Given the description of an element on the screen output the (x, y) to click on. 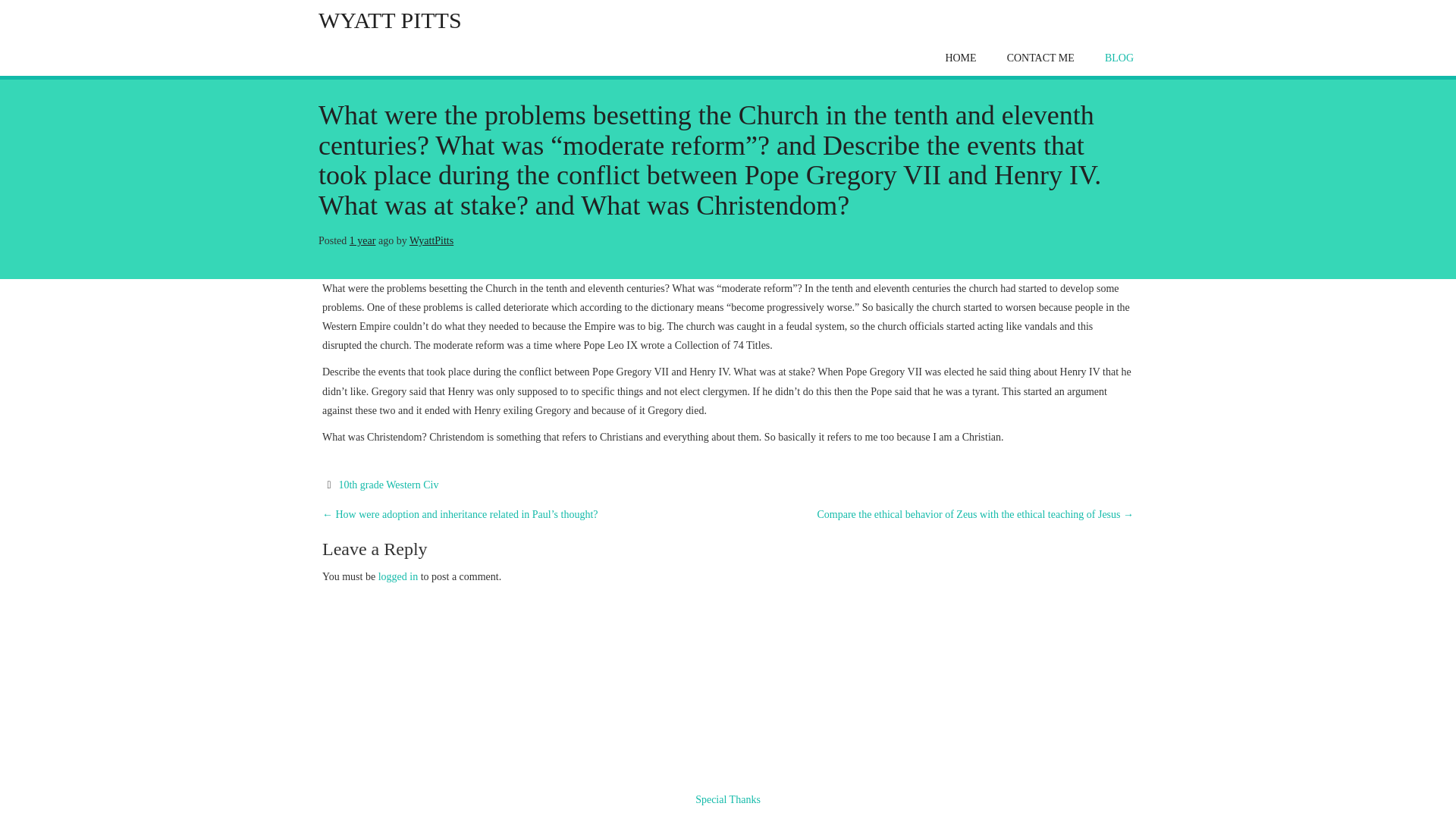
WYATT PITTS (389, 19)
10th grade Western Civ (387, 484)
Special Thanks (727, 799)
CONTACT ME (1040, 58)
1 year (362, 240)
HOME (960, 58)
WyattPitts (430, 240)
BLOG (1118, 58)
logged in (398, 576)
